Given the description of an element on the screen output the (x, y) to click on. 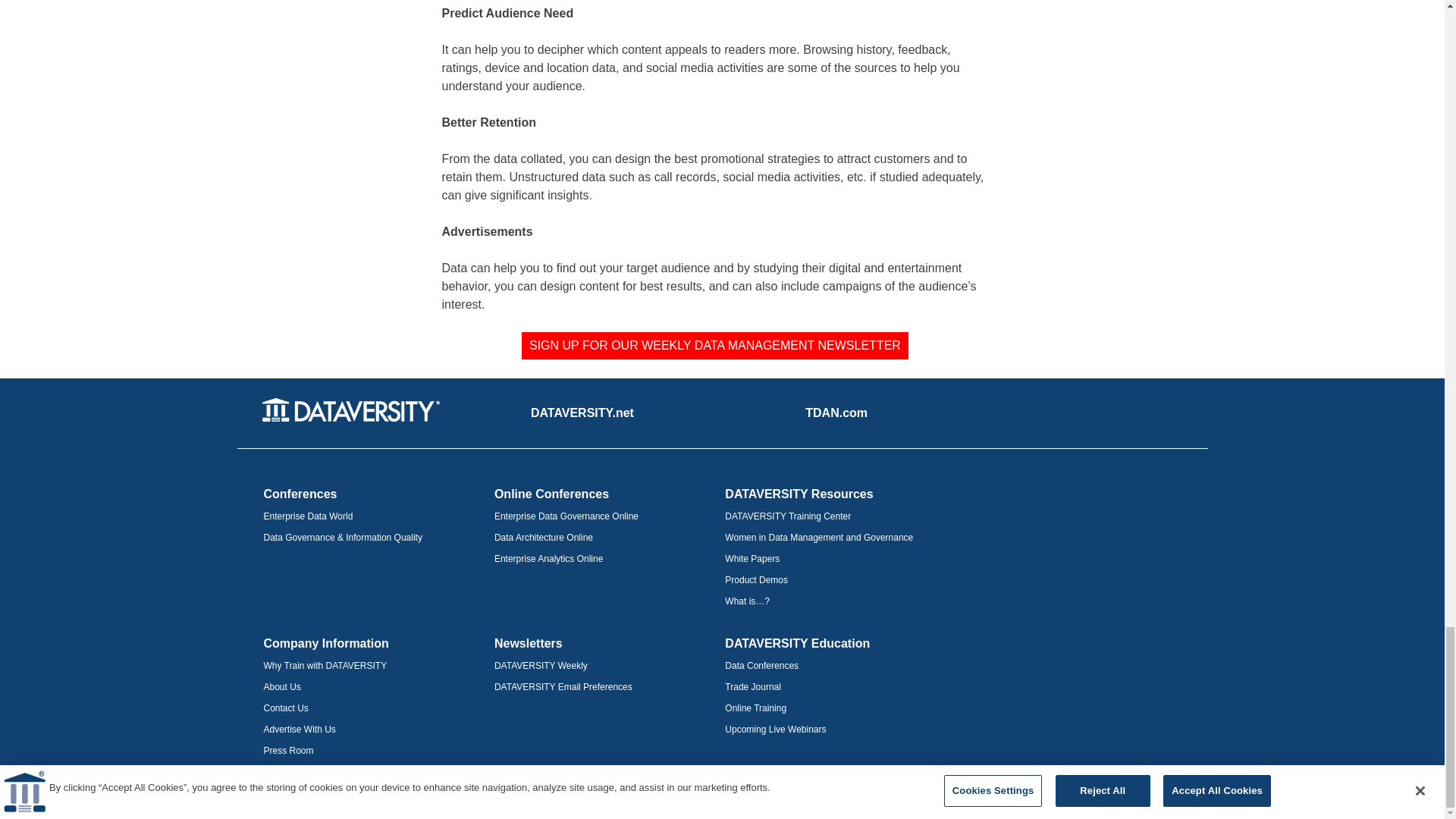
SIGN UP FOR OUR WEEKLY DATA MANAGEMENT NEWSLETTER (714, 345)
TDAN.com (836, 413)
DATAVERSITY.net (582, 413)
